Given the description of an element on the screen output the (x, y) to click on. 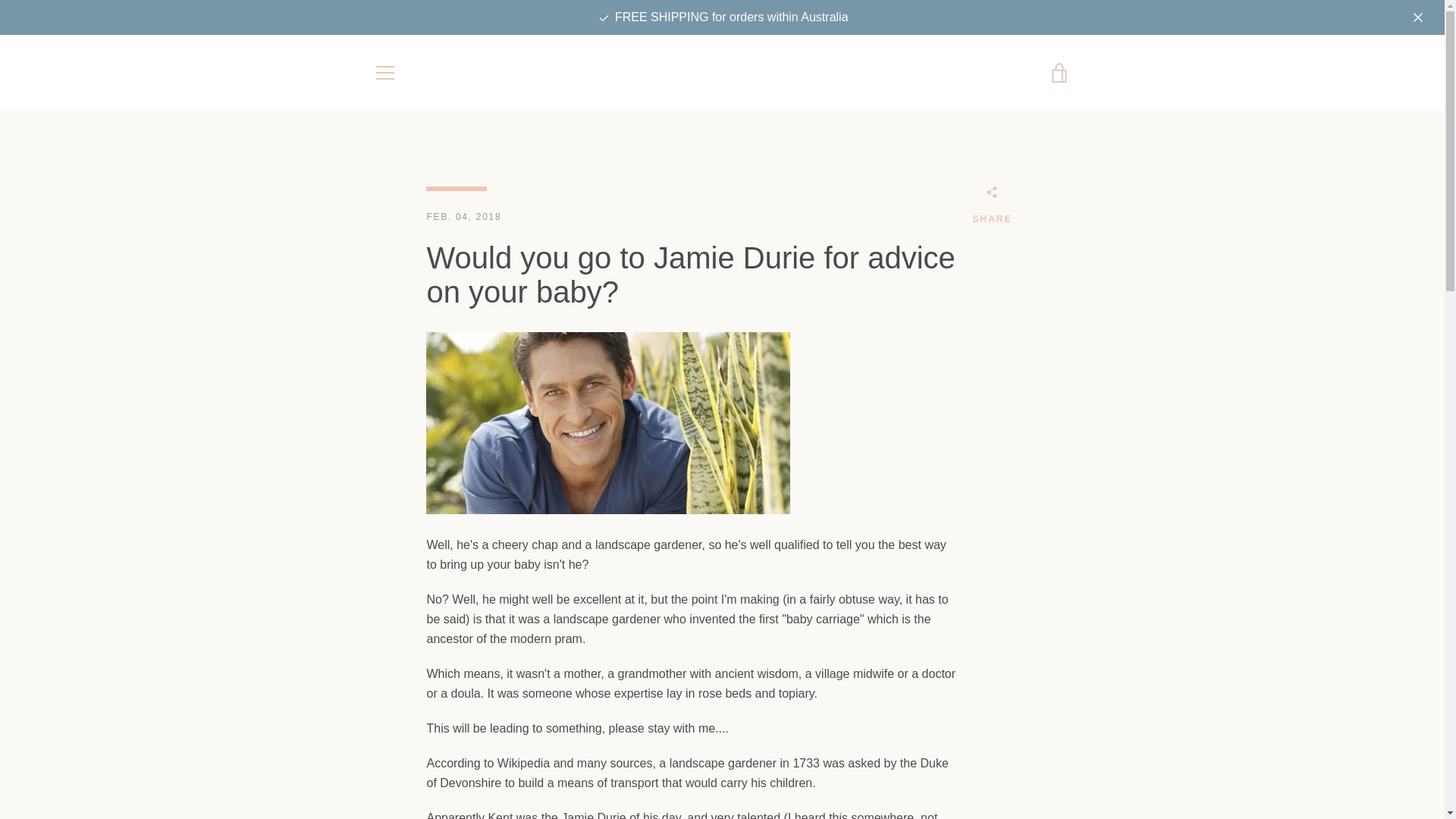
EXPAND NAVIGATION Element type: text (384, 72)
Instagram Element type: text (399, 768)
SHARE Element type: text (991, 207)
Ok Element type: text (1039, 683)
Powered by Shopify Element type: text (769, 768)
VIEW CART Element type: text (1059, 72)
SEARCH Element type: text (394, 643)
newbielove.com.au Element type: text (733, 759)
Facebook Element type: text (372, 768)
Skip to content Element type: text (0, 0)
